Given the description of an element on the screen output the (x, y) to click on. 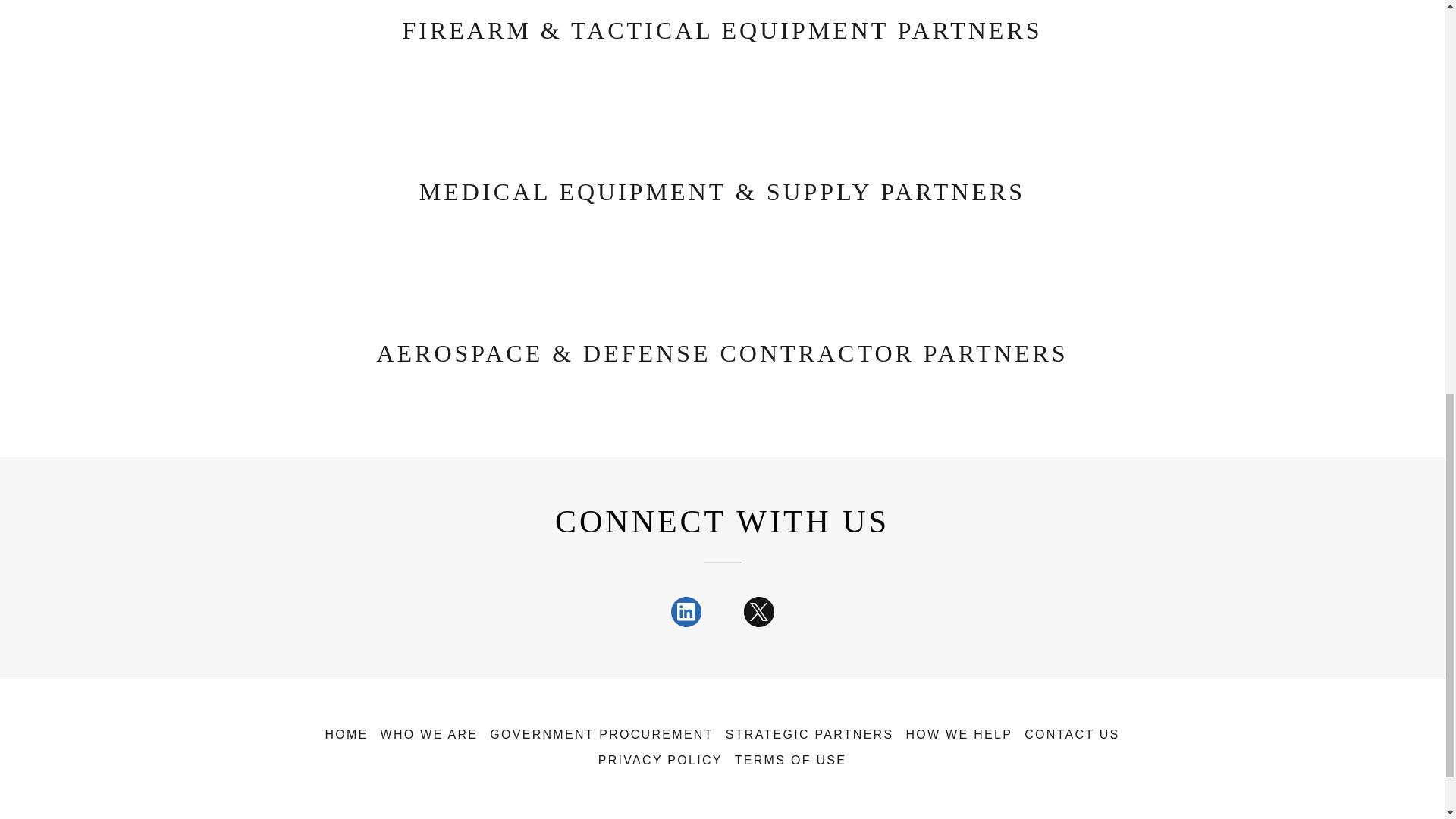
PRIVACY POLICY (660, 760)
CONTACT US (1071, 734)
GOVERNMENT PROCUREMENT (601, 734)
ACCEPT (1274, 324)
HOME (346, 734)
WHO WE ARE (429, 734)
HOW WE HELP (958, 734)
TERMS OF USE (790, 760)
STRATEGIC PARTNERS (809, 734)
